Given the description of an element on the screen output the (x, y) to click on. 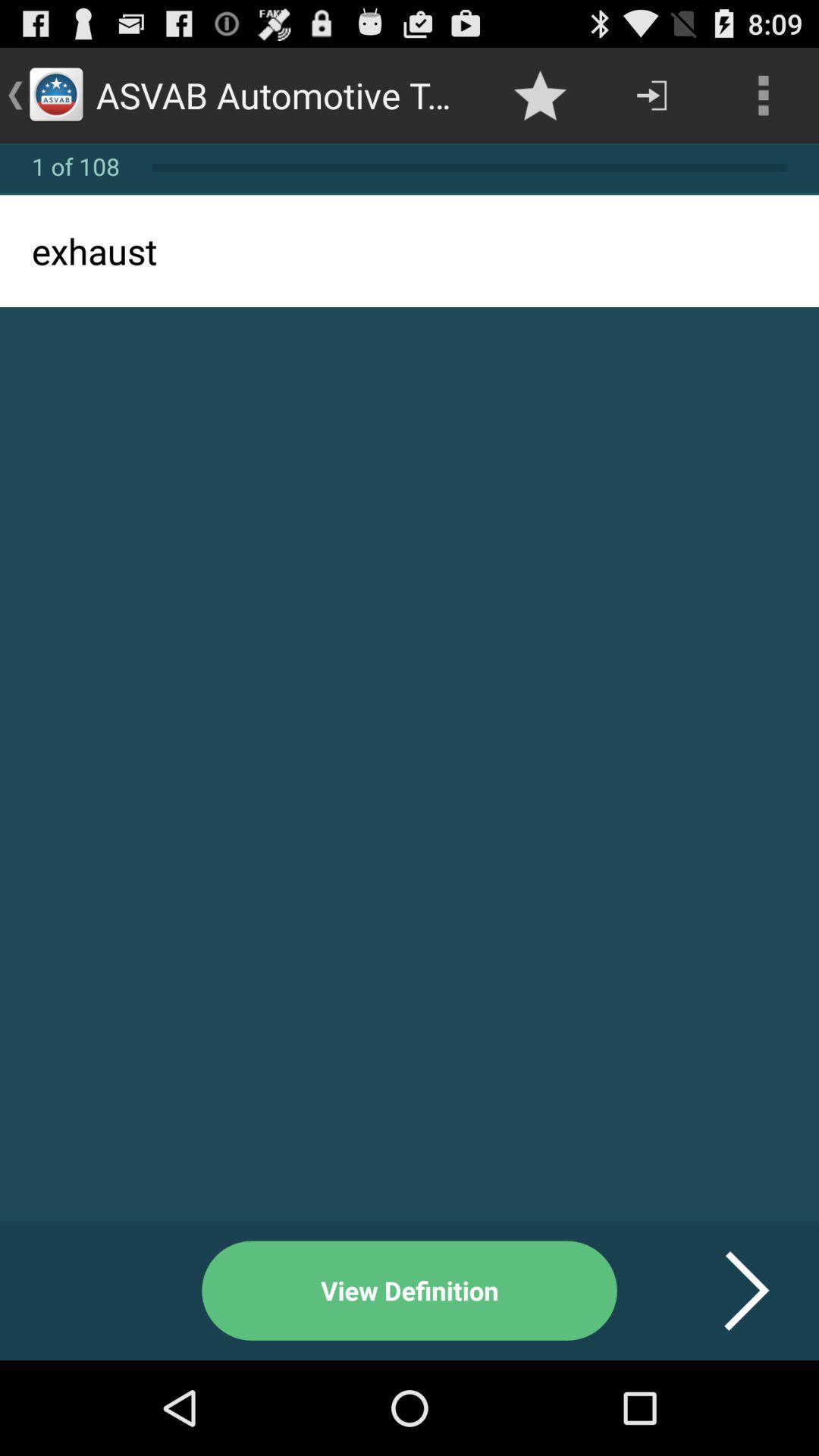
click view definition (409, 1290)
